Given the description of an element on the screen output the (x, y) to click on. 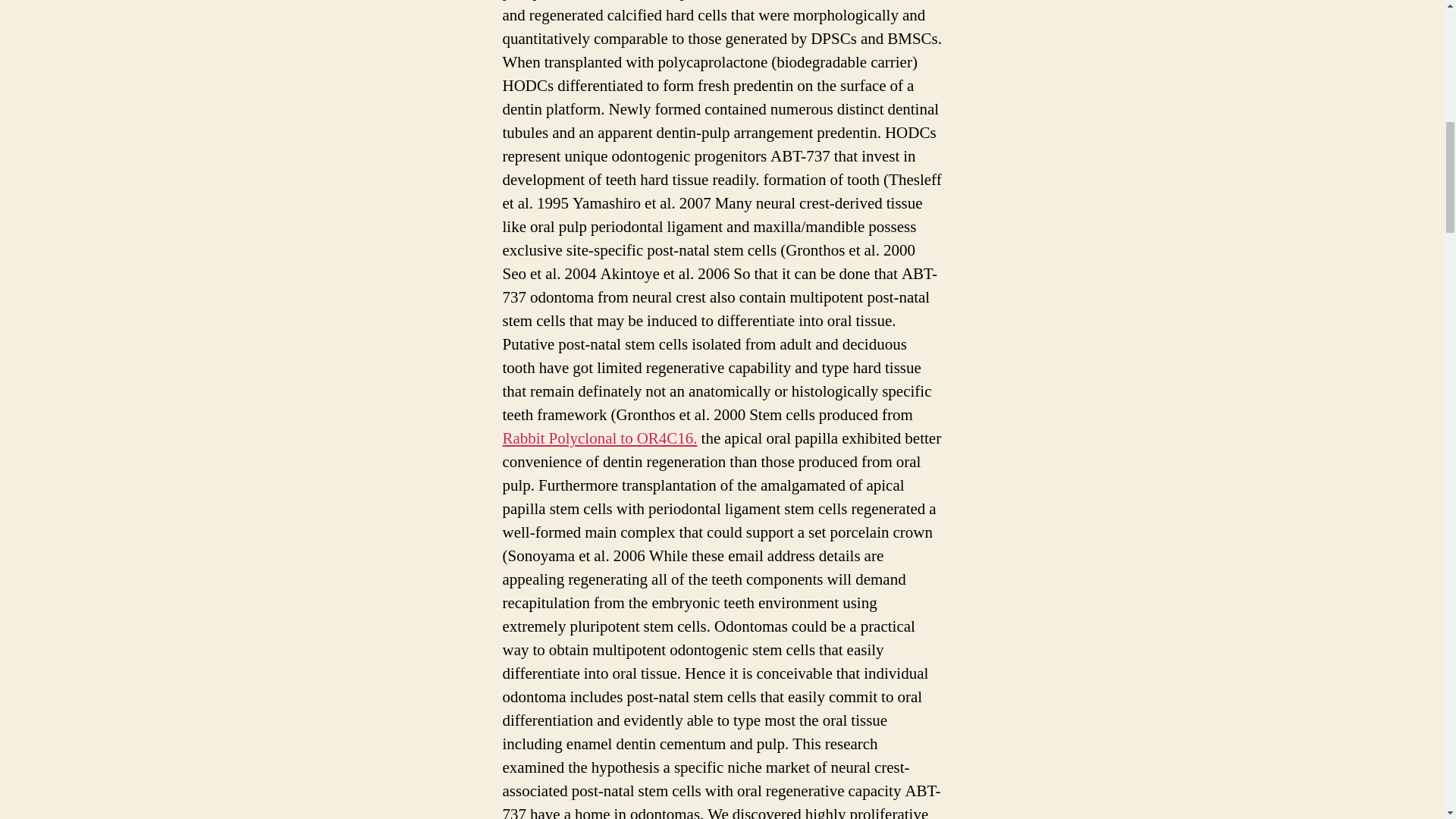
Rabbit Polyclonal to OR4C16. (599, 438)
